Given the description of an element on the screen output the (x, y) to click on. 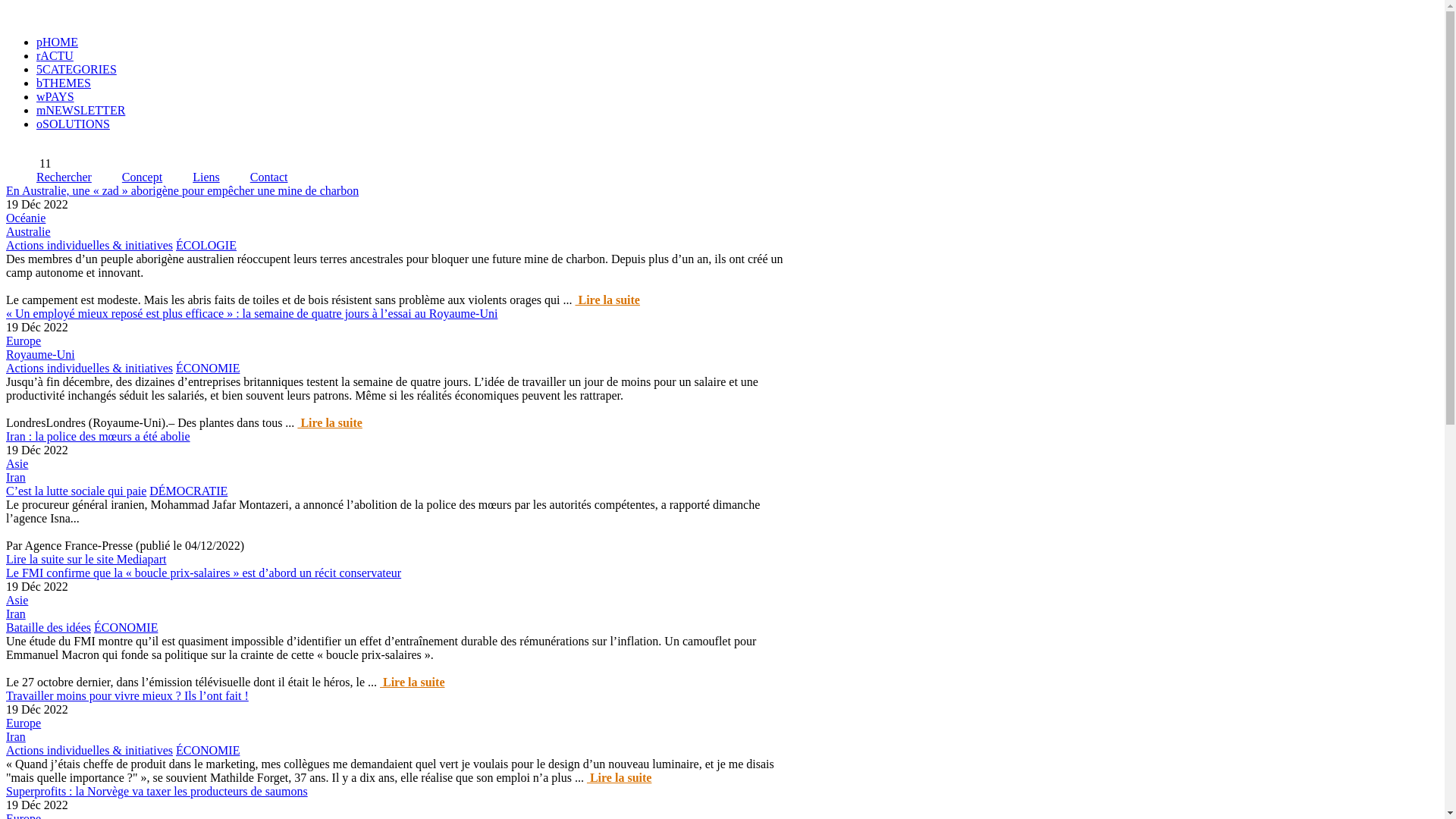
bTHEMES Element type: text (63, 82)
Rechercher Element type: text (48, 176)
Australie Element type: text (28, 231)
 Lire la suite Element type: text (411, 681)
Actions individuelles & initiatives Element type: text (89, 367)
Concept Element type: text (126, 176)
 Lire la suite Element type: text (329, 422)
Royaume-Uni Element type: text (40, 354)
oSOLUTIONS Element type: text (72, 123)
Asie Element type: text (17, 463)
Contact Element type: text (253, 176)
 Lire la suite Element type: text (606, 299)
Iran Element type: text (15, 476)
Liens Element type: text (190, 176)
Europe Element type: text (23, 340)
pHOME Element type: text (57, 41)
 Lire la suite Element type: text (618, 777)
Asie Element type: text (17, 599)
Iran Element type: text (15, 736)
wPAYS Element type: text (55, 96)
Lire la suite sur le site Mediapart Element type: text (86, 558)
mNEWSLETTER Element type: text (80, 109)
Iran Element type: text (15, 613)
5CATEGORIES Element type: text (76, 68)
Actions individuelles & initiatives Element type: text (89, 244)
Europe Element type: text (23, 722)
rACTU Element type: text (54, 55)
Actions individuelles & initiatives Element type: text (89, 749)
